Given the description of an element on the screen output the (x, y) to click on. 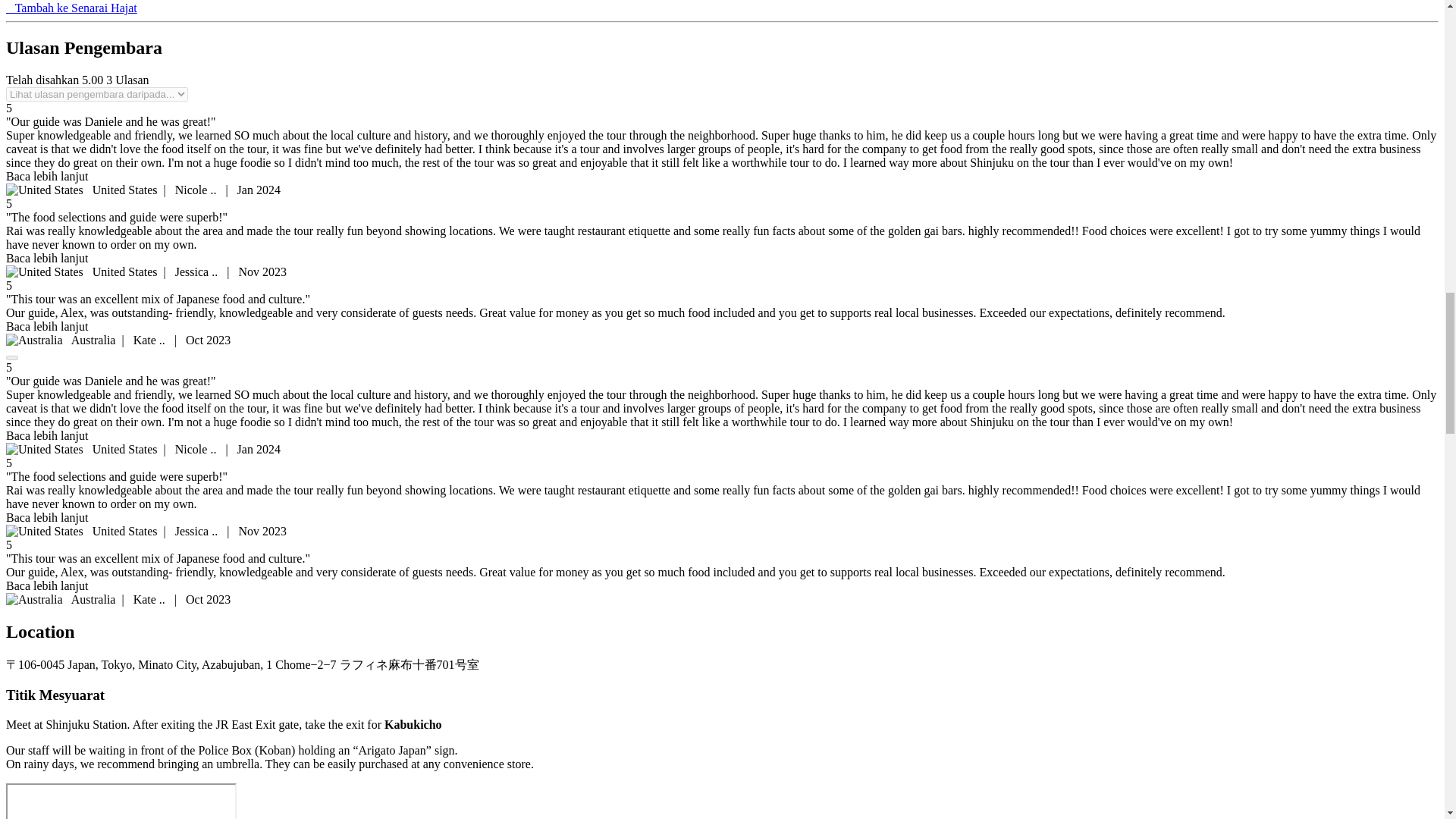
   Tambah ke Senarai Hajat (70, 7)
